Given the description of an element on the screen output the (x, y) to click on. 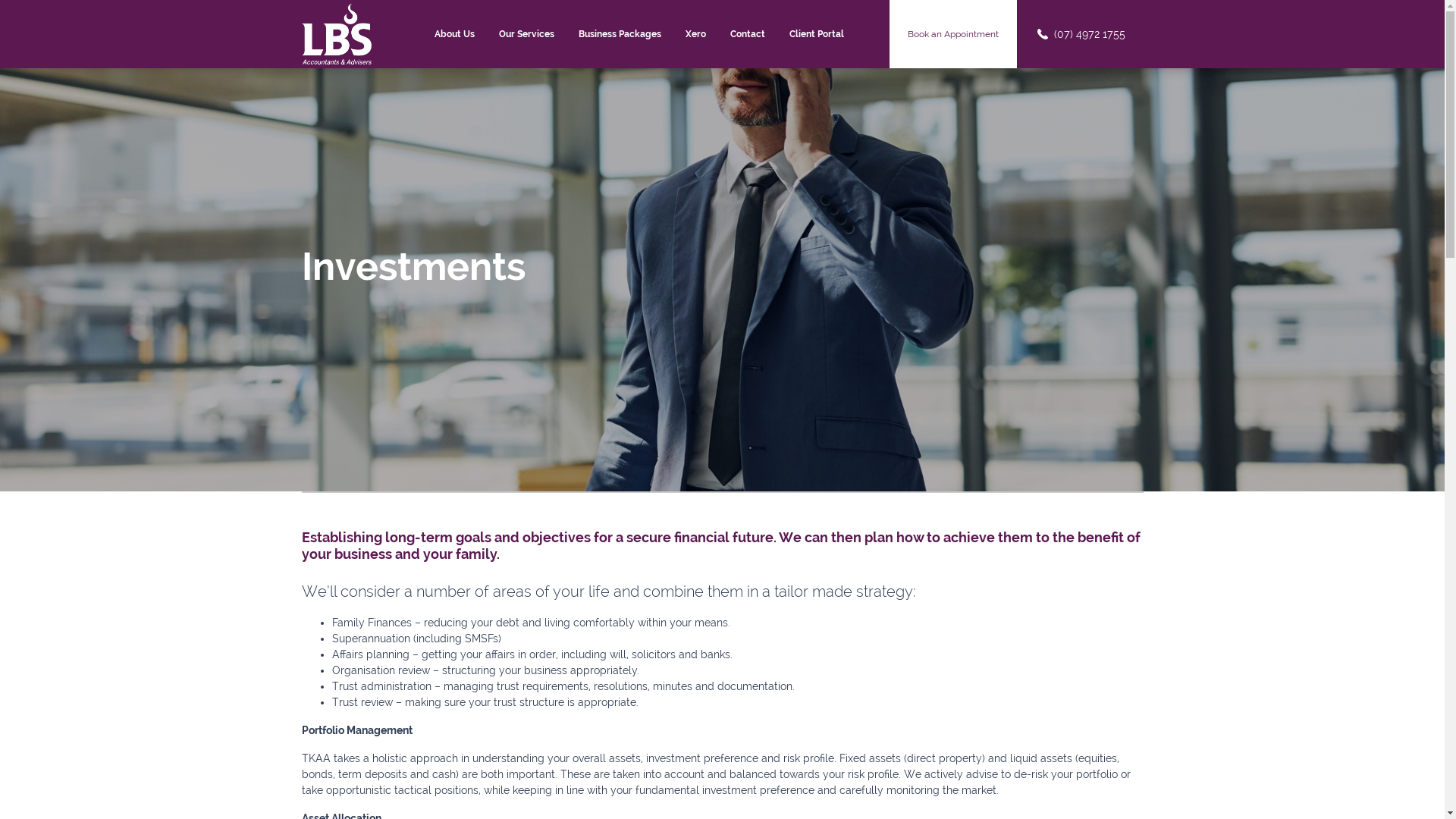
(07) 4972 1755 Element type: text (1079, 34)
Business Packages Element type: text (619, 34)
Book an Appointment Element type: text (952, 34)
Contact Element type: text (747, 34)
Xero Element type: text (695, 34)
About Us Element type: text (454, 34)
Client Portal Element type: text (816, 34)
Our Services Element type: text (526, 34)
